Given the description of an element on the screen output the (x, y) to click on. 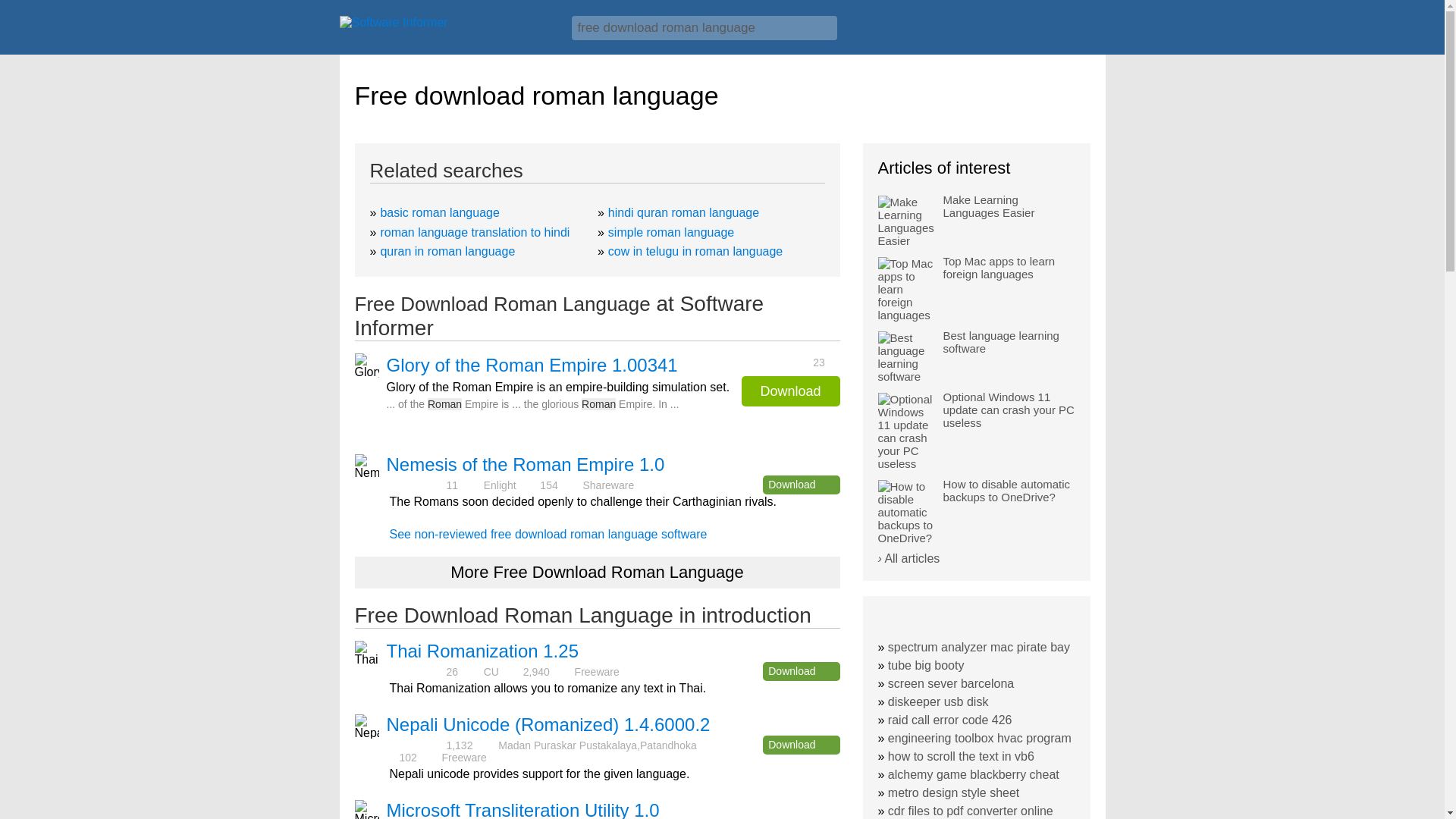
23 votes (783, 361)
Glory of the Roman Empire 1.00341 (532, 364)
3.3 (415, 745)
Thai Romanization 1.25 (482, 650)
quran in roman language (447, 250)
Nemesis of the Roman Empire 1.0 (526, 464)
Download (790, 390)
cow in telugu in roman language (695, 250)
Download (801, 484)
See non-reviewed free download roman language software (548, 533)
simple roman language (670, 232)
Nemesis of the Roman Empire 1.0 (526, 464)
4.7 (415, 484)
